Given the description of an element on the screen output the (x, y) to click on. 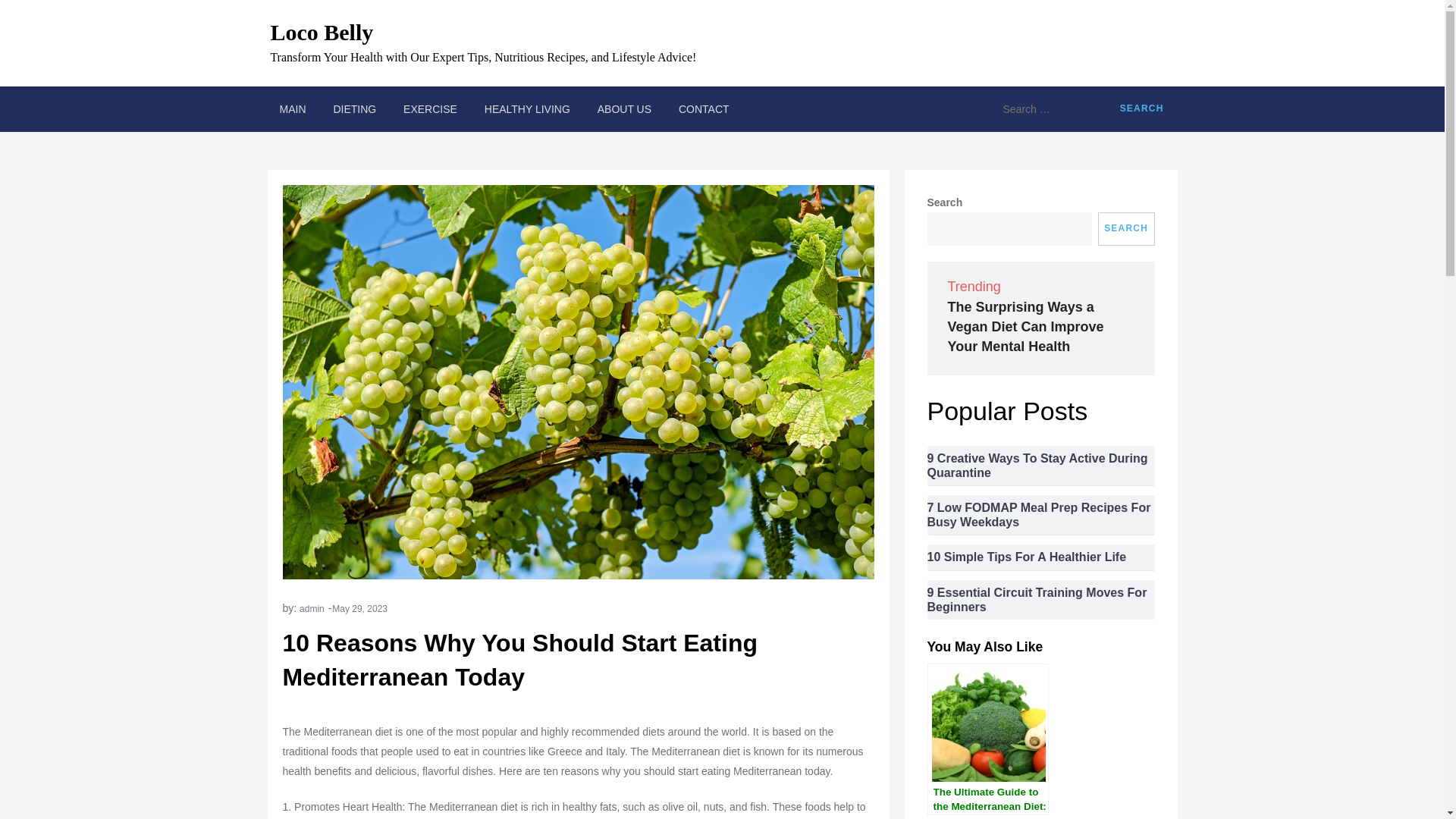
ABOUT US (624, 108)
DIETING (354, 108)
10 Simple Tips For A Healthier Life (1025, 556)
MAIN (291, 108)
HEALTHY LIVING (526, 108)
7 Low FODMAP Meal Prep Recipes For Busy Weekdays (1040, 514)
SEARCH (1125, 228)
9 Creative Ways To Stay Active During Quarantine (1040, 465)
9 Essential Circuit Training Moves For Beginners (1040, 599)
admin (311, 608)
Loco Belly (320, 32)
EXERCISE (429, 108)
